Given the description of an element on the screen output the (x, y) to click on. 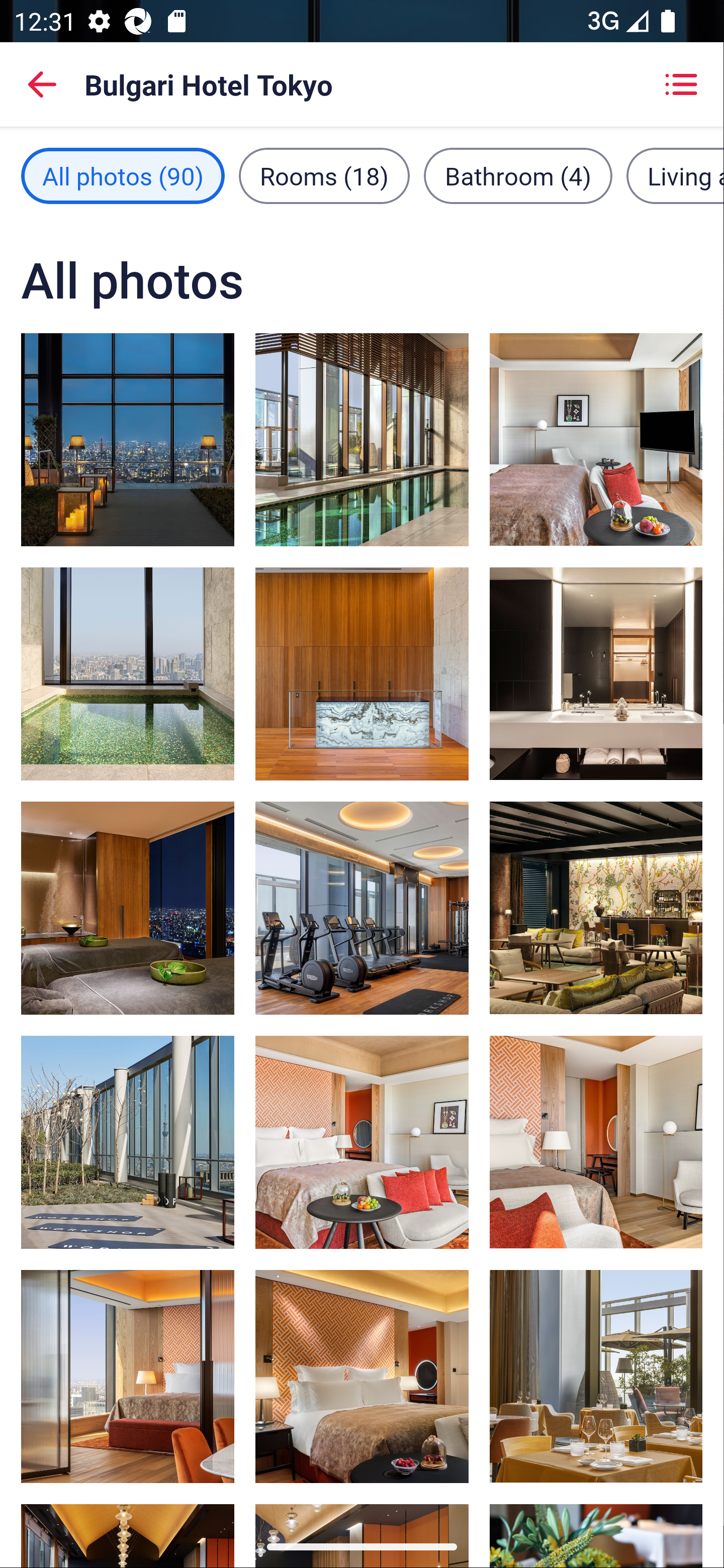
Back (42, 84)
Showing grid view (681, 84)
All photos filter, 90 images (122, 175)
Rooms filter, 18 images (323, 175)
Bathroom filter, 4 images (517, 175)
Rooftop terrace, image (127, 438)
Indoor pool, image (361, 438)
9 treatment rooms, image (127, 673)
9 treatment rooms, image (361, 673)
9 treatment rooms, image (127, 907)
Fitness facility, image (361, 907)
Bar (on property), image (595, 907)
Fitness facility, image (127, 1142)
Restaurant, image (595, 1376)
